Given the description of an element on the screen output the (x, y) to click on. 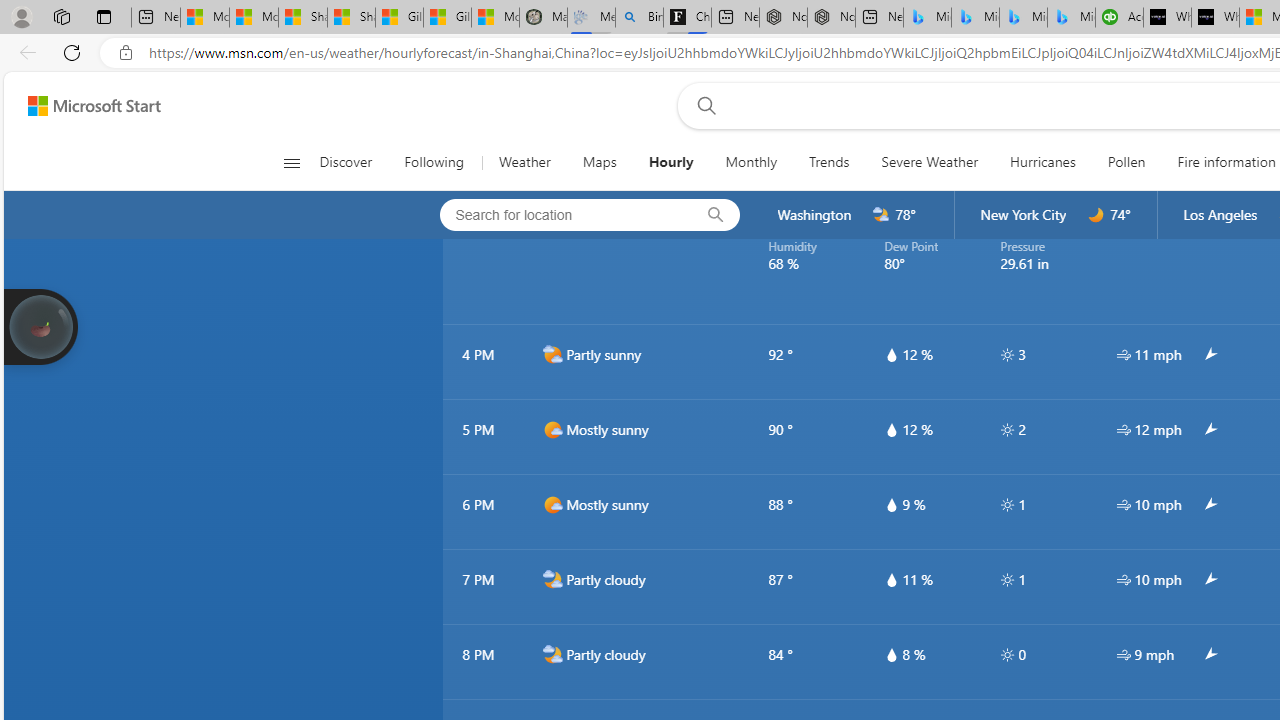
Accounting Software for Accountants, CPAs and Bookkeepers (1119, 17)
common/arrow (1209, 655)
Hourly (670, 162)
Chloe Sorvino (687, 17)
Bing Real Estate - Home sales and rental listings (639, 17)
n2000 (552, 655)
hourlyTable/uv (1007, 654)
